Given the description of an element on the screen output the (x, y) to click on. 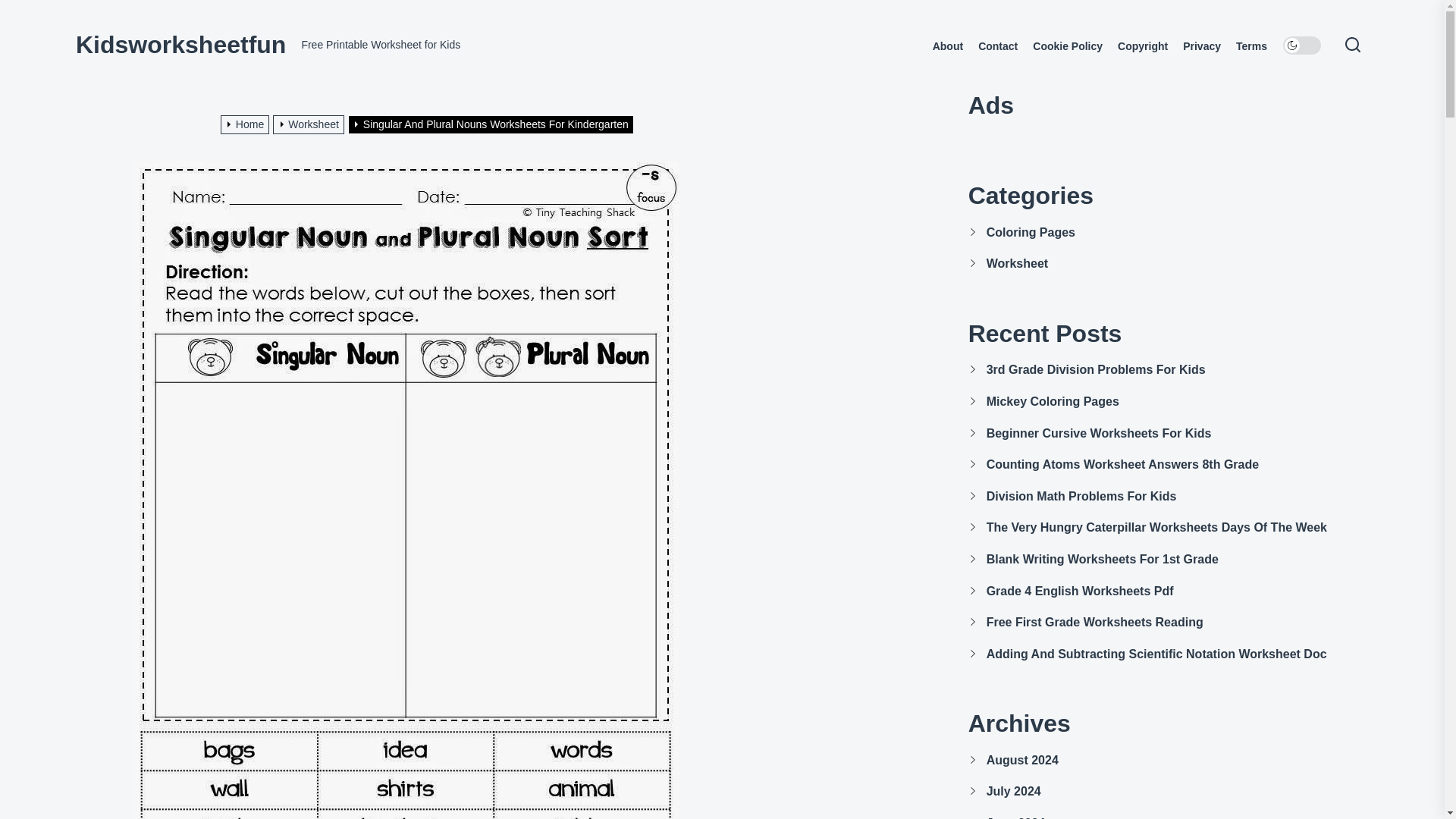
Cookie Policy (1067, 46)
Privacy (1201, 46)
About (947, 46)
Worksheet (310, 123)
Kidsworksheetfun (180, 44)
Home (247, 123)
Contact (997, 46)
Terms (1251, 46)
Copyright (1142, 46)
Singular And Plural Nouns Worksheets For Kindergarten (492, 123)
